Given the description of an element on the screen output the (x, y) to click on. 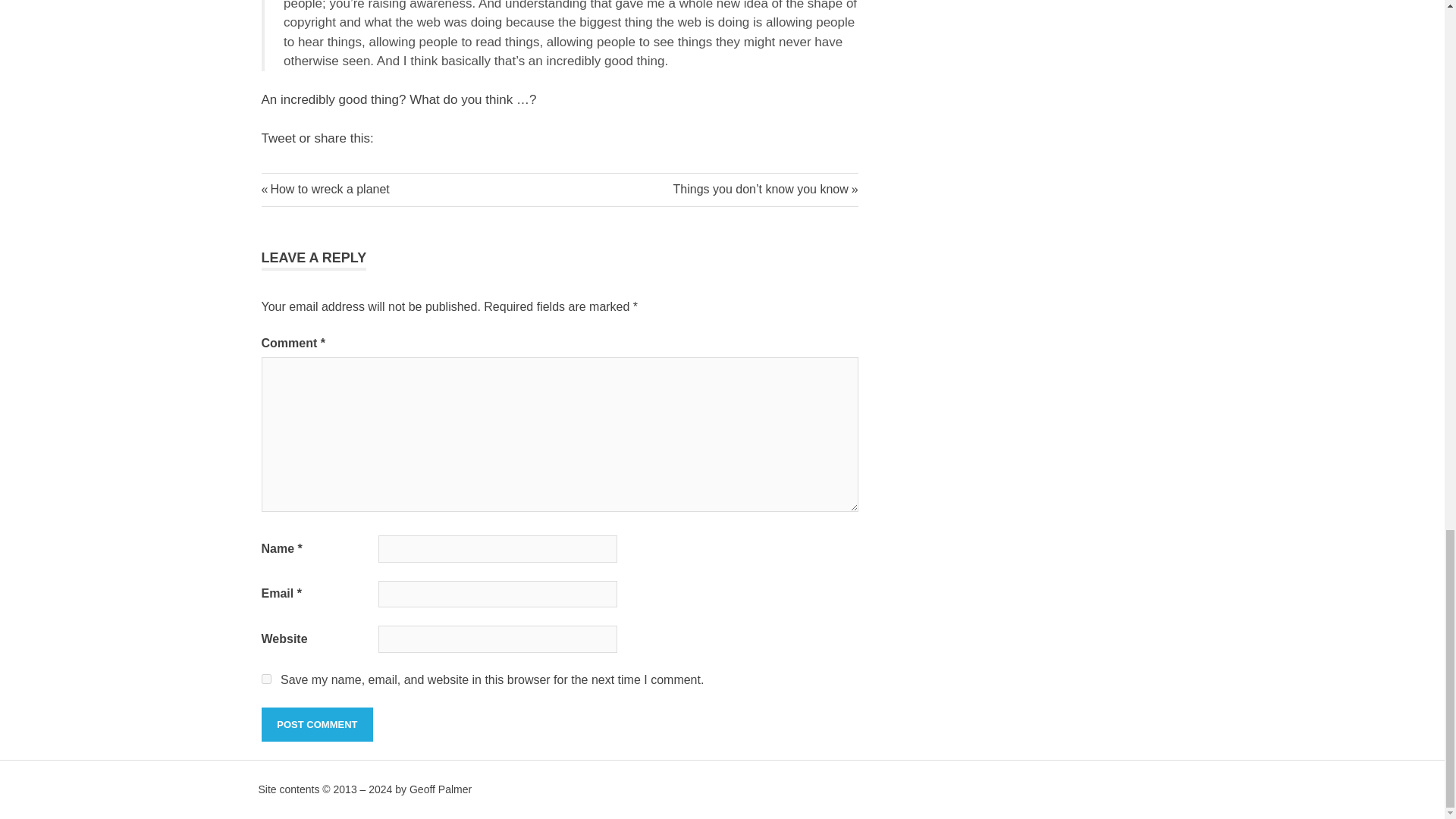
yes (265, 678)
Post Comment (316, 724)
Post Comment (316, 724)
amwriting (288, 183)
